Given the description of an element on the screen output the (x, y) to click on. 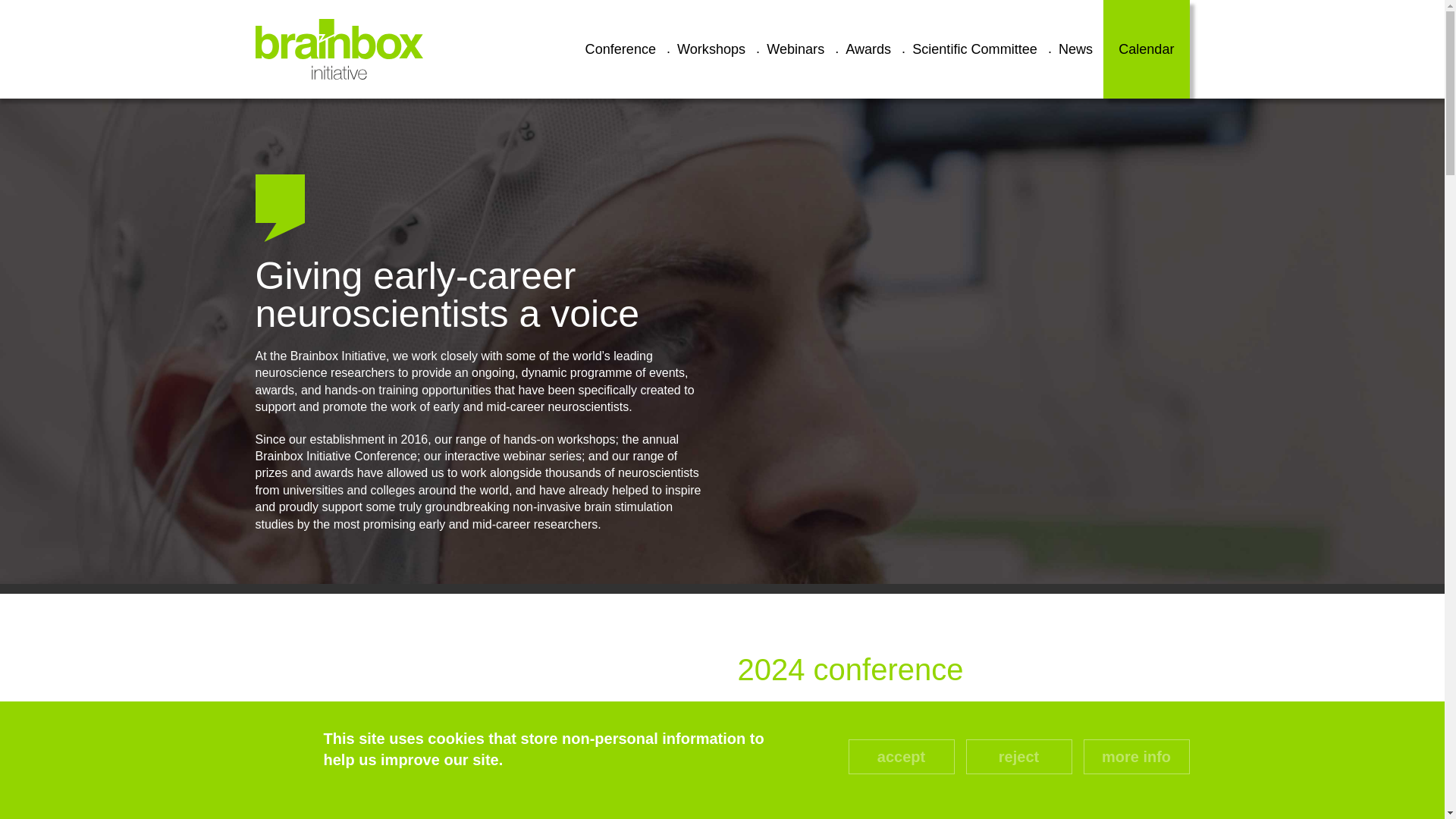
Workshops (710, 49)
More info (1136, 755)
Accept (900, 755)
Conference (620, 49)
view the programme (841, 798)
Scientific Committee (974, 49)
Reject (1018, 755)
